Given the description of an element on the screen output the (x, y) to click on. 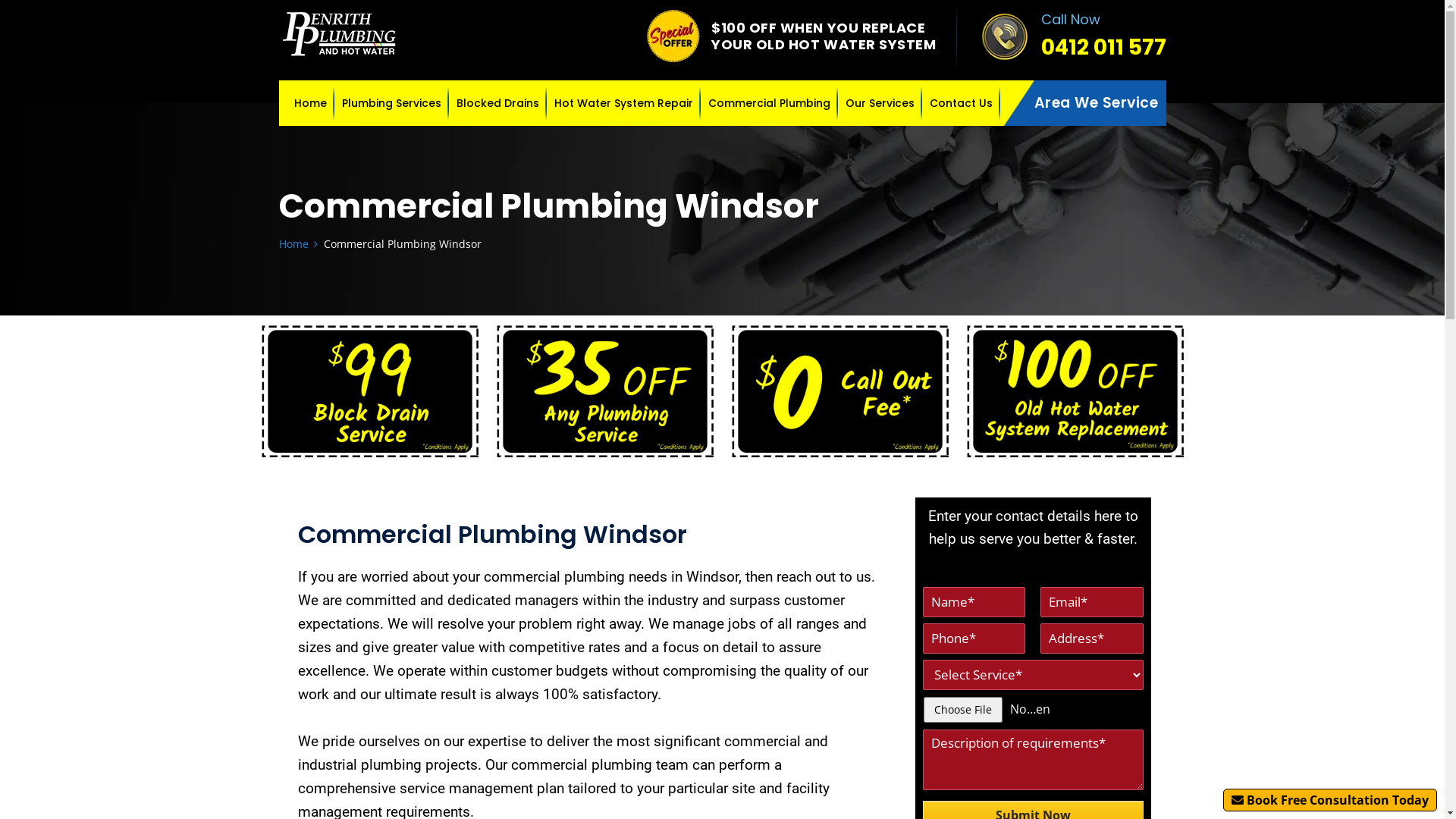
Our Services Element type: text (878, 102)
Blocked Drains Element type: text (497, 102)
Book Free Consultation Today Element type: text (1330, 799)
Contact Us Element type: text (960, 102)
Home Element type: text (310, 102)
Plumbing Services Element type: text (390, 102)
Commercial Plumbing Element type: text (769, 102)
Home Element type: text (293, 243)
Penrith Element type: hover (339, 33)
Hot Water System Repair Element type: text (622, 102)
$100 OFF WHEN YOU REPLACE
YOUR OLD HOT WATER SYSTEM Element type: text (823, 35)
Area We Service Element type: text (1100, 102)
0412 011 577 Element type: text (1102, 47)
